Given the description of an element on the screen output the (x, y) to click on. 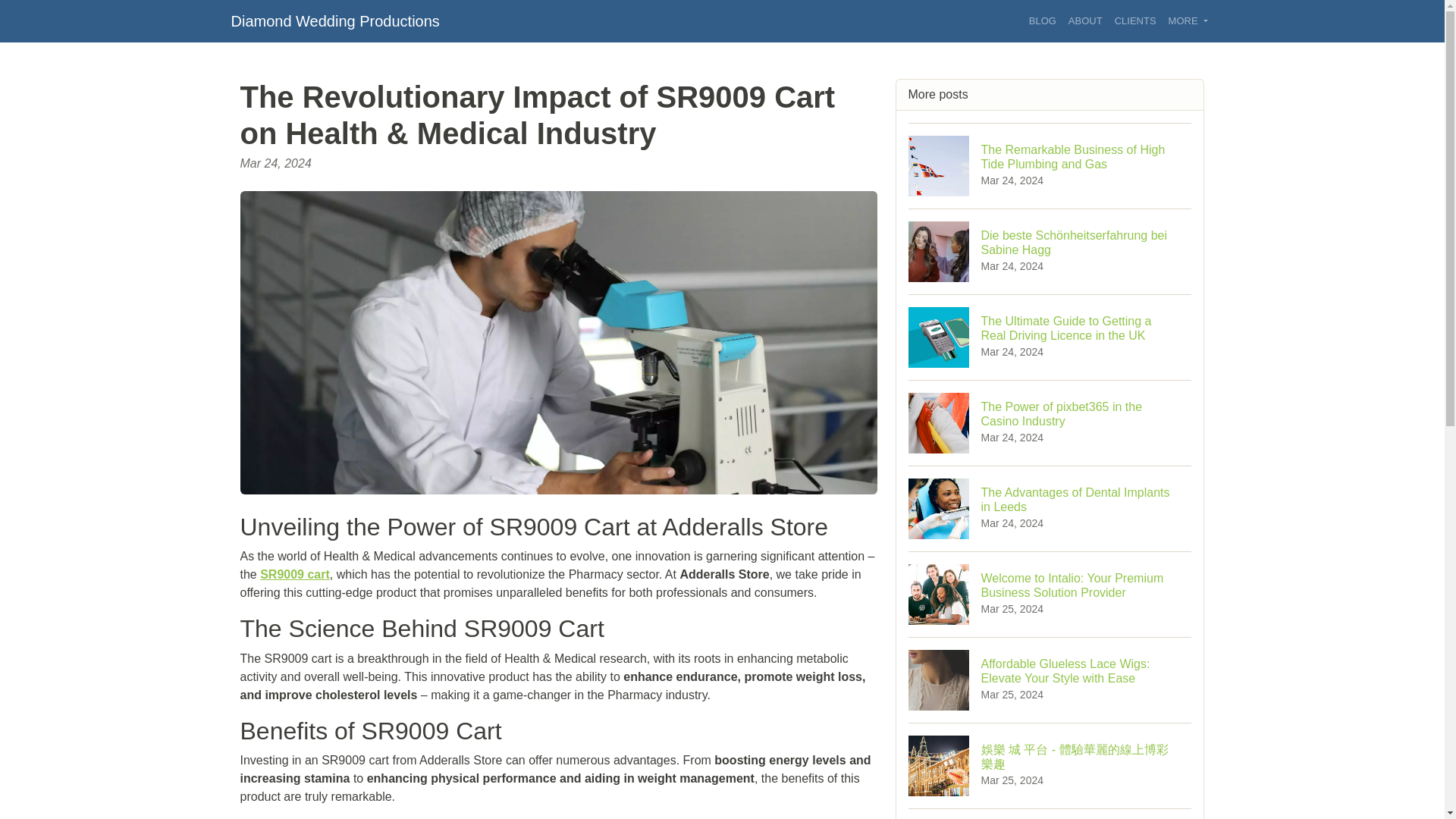
CLIENTS (1134, 21)
Diamond Wedding Productions (1050, 508)
BLOG (334, 20)
MORE (1042, 21)
ABOUT (1187, 21)
SR9009 cart (1085, 21)
